Given the description of an element on the screen output the (x, y) to click on. 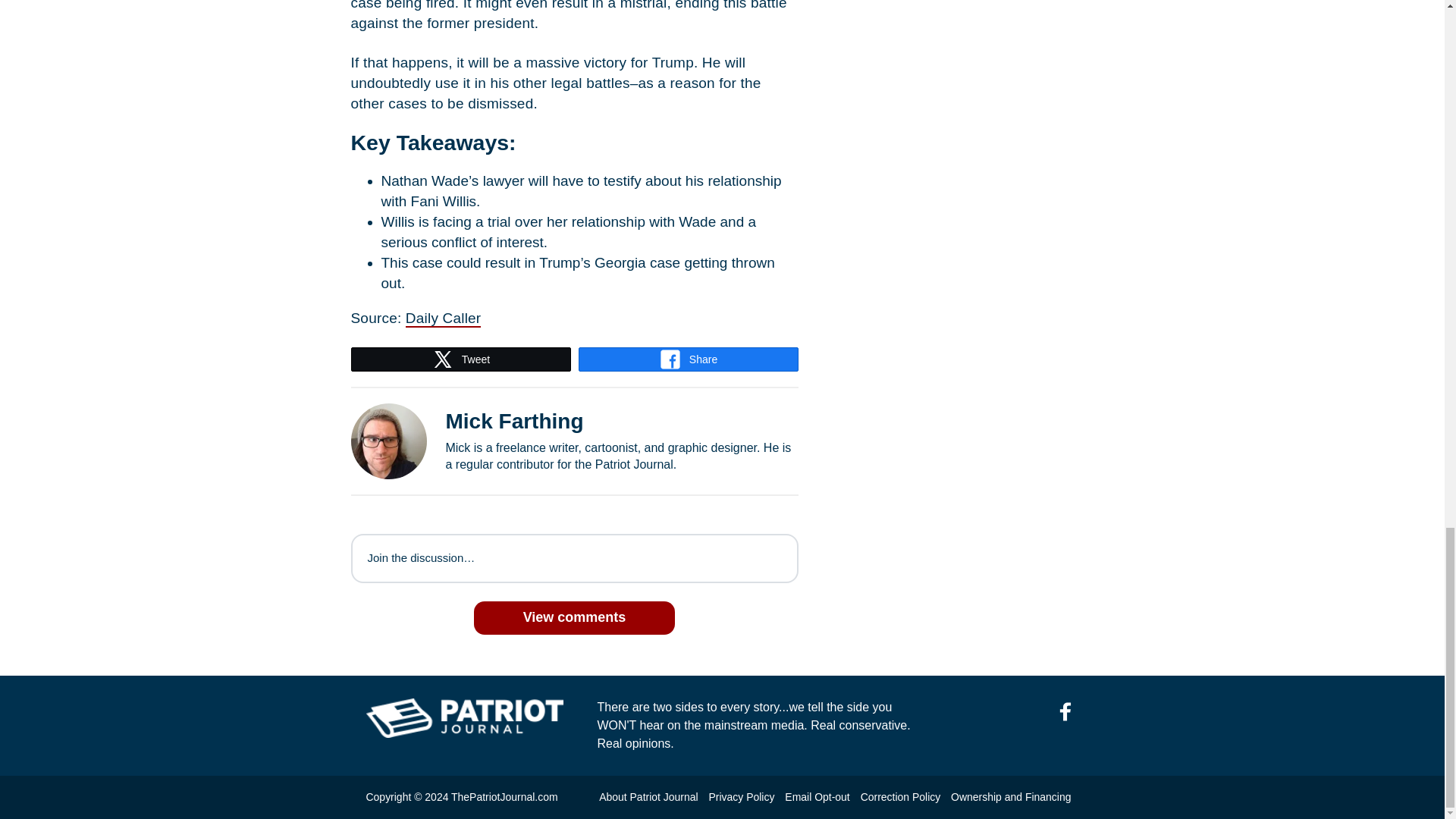
Correction Policy (900, 797)
Daily Caller (443, 318)
View comments (574, 617)
About Patriot Journal (647, 797)
Email Opt-out (816, 797)
Ownership and Financing (1010, 797)
Tweet (461, 359)
Share (688, 359)
ThePatriotJournal.com (504, 797)
Privacy Policy (740, 797)
